Given the description of an element on the screen output the (x, y) to click on. 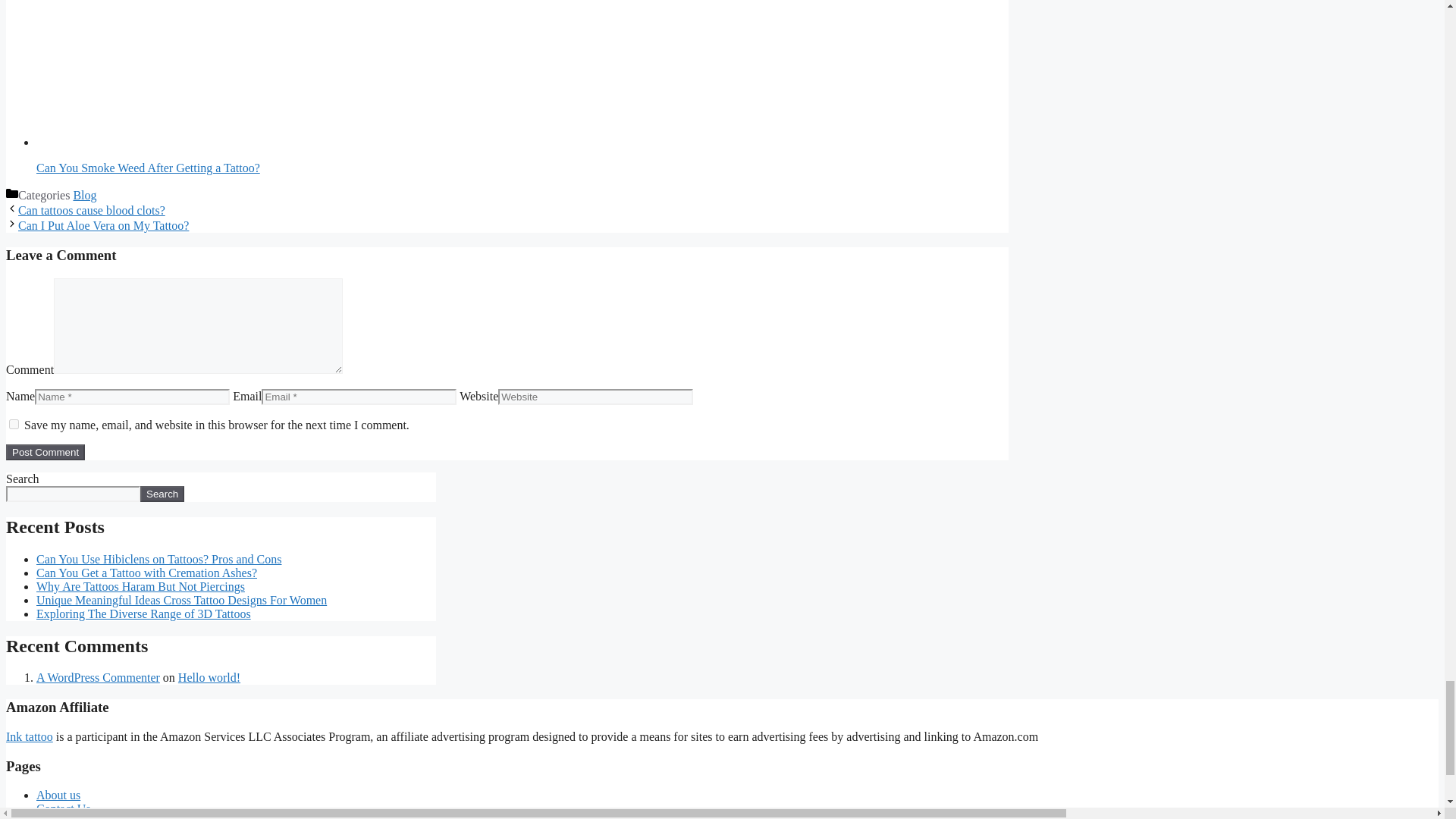
A WordPress Commenter (98, 676)
Search (161, 494)
Exploring The Diverse Range of 3D Tattoos (143, 613)
Post Comment (44, 452)
yes (13, 424)
Hello world! (208, 676)
Home (50, 817)
Unique Meaningful Ideas Cross Tattoo Designs For Women (181, 599)
Can You Smoke Weed After Getting a Tattoo? (407, 73)
Can tattoos cause blood clots? (91, 210)
Contact Us (63, 808)
Blog (84, 195)
Ink tattoo (28, 736)
Post Comment (44, 452)
